Given the description of an element on the screen output the (x, y) to click on. 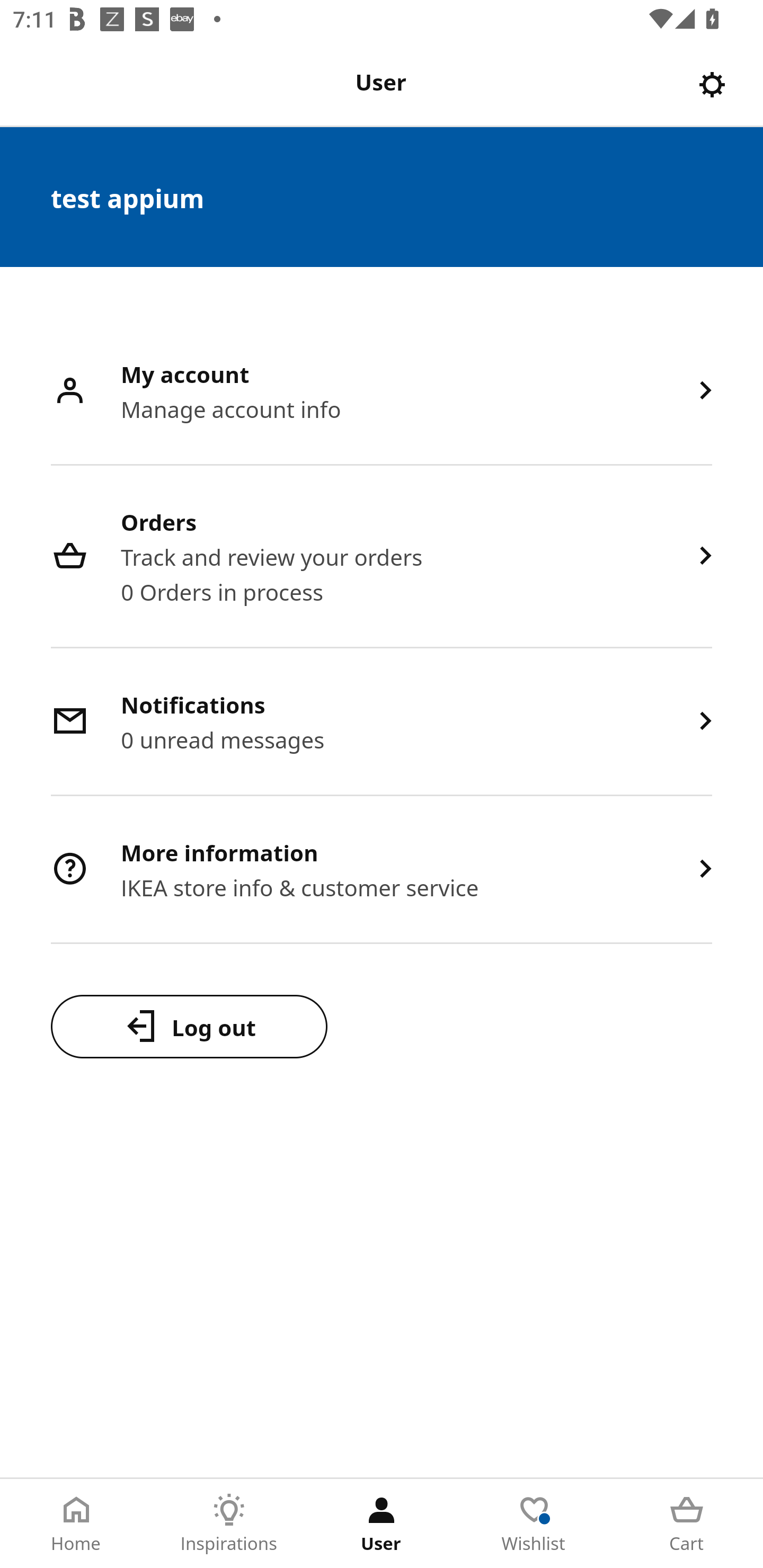
My account
Manage account info (381, 391)
Notifications
0 unread messages (381, 722)
Log out (189, 1026)
Home
Tab 1 of 5 (76, 1522)
Inspirations
Tab 2 of 5 (228, 1522)
User
Tab 3 of 5 (381, 1522)
Wishlist
Tab 4 of 5 (533, 1522)
Cart
Tab 5 of 5 (686, 1522)
